Given the description of an element on the screen output the (x, y) to click on. 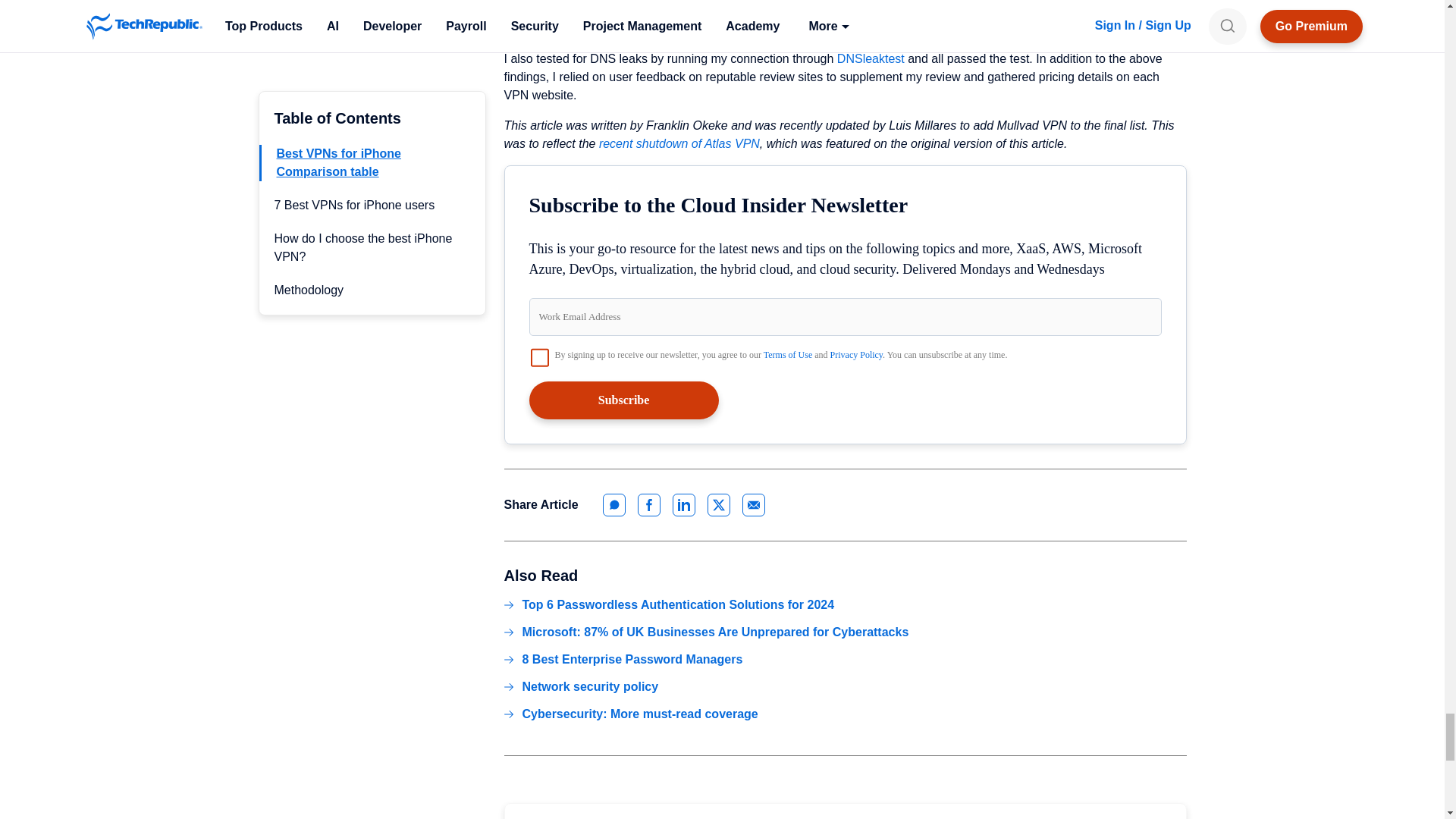
on (539, 357)
